Given the description of an element on the screen output the (x, y) to click on. 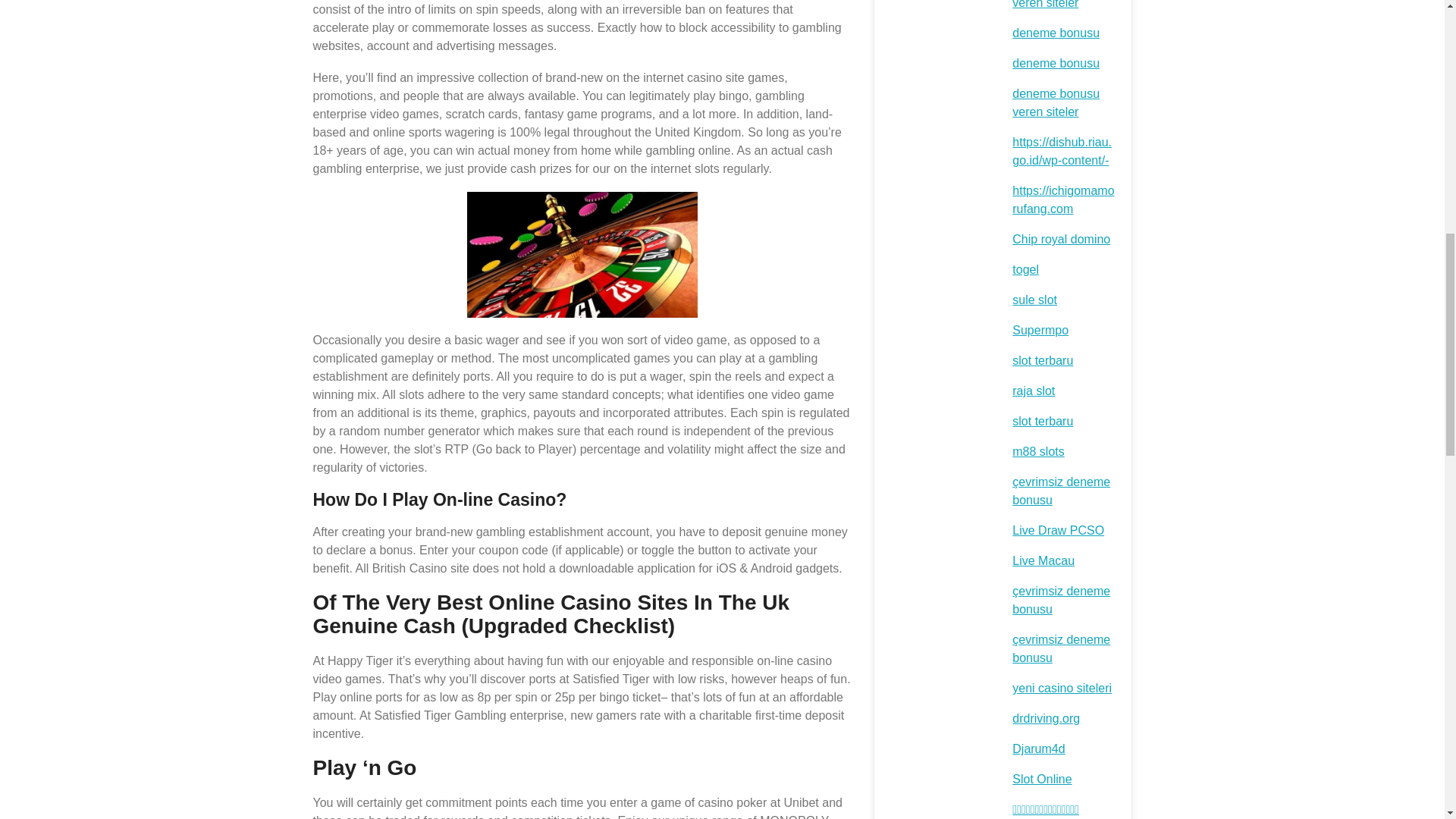
deneme bonusu veren siteler (1055, 4)
sule slot (1034, 299)
Slot Online (1041, 779)
raja slot (1032, 390)
deneme bonusu (1055, 62)
Chip royal domino (1060, 238)
Live Draw PCSO (1057, 530)
Supermpo (1039, 329)
slot terbaru (1042, 359)
Djarum4d (1037, 748)
